Given the description of an element on the screen output the (x, y) to click on. 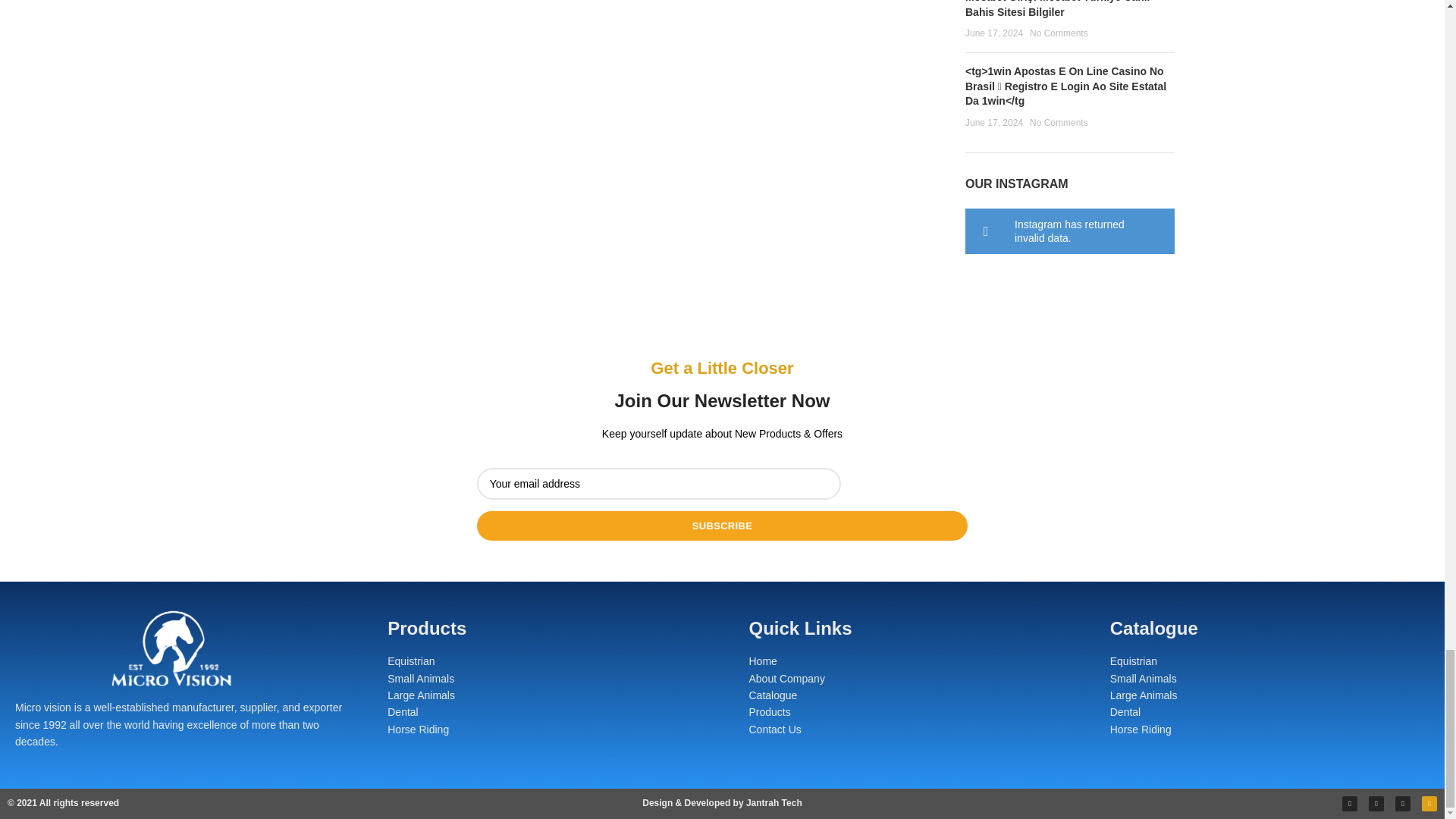
Subscribe (722, 525)
